Given the description of an element on the screen output the (x, y) to click on. 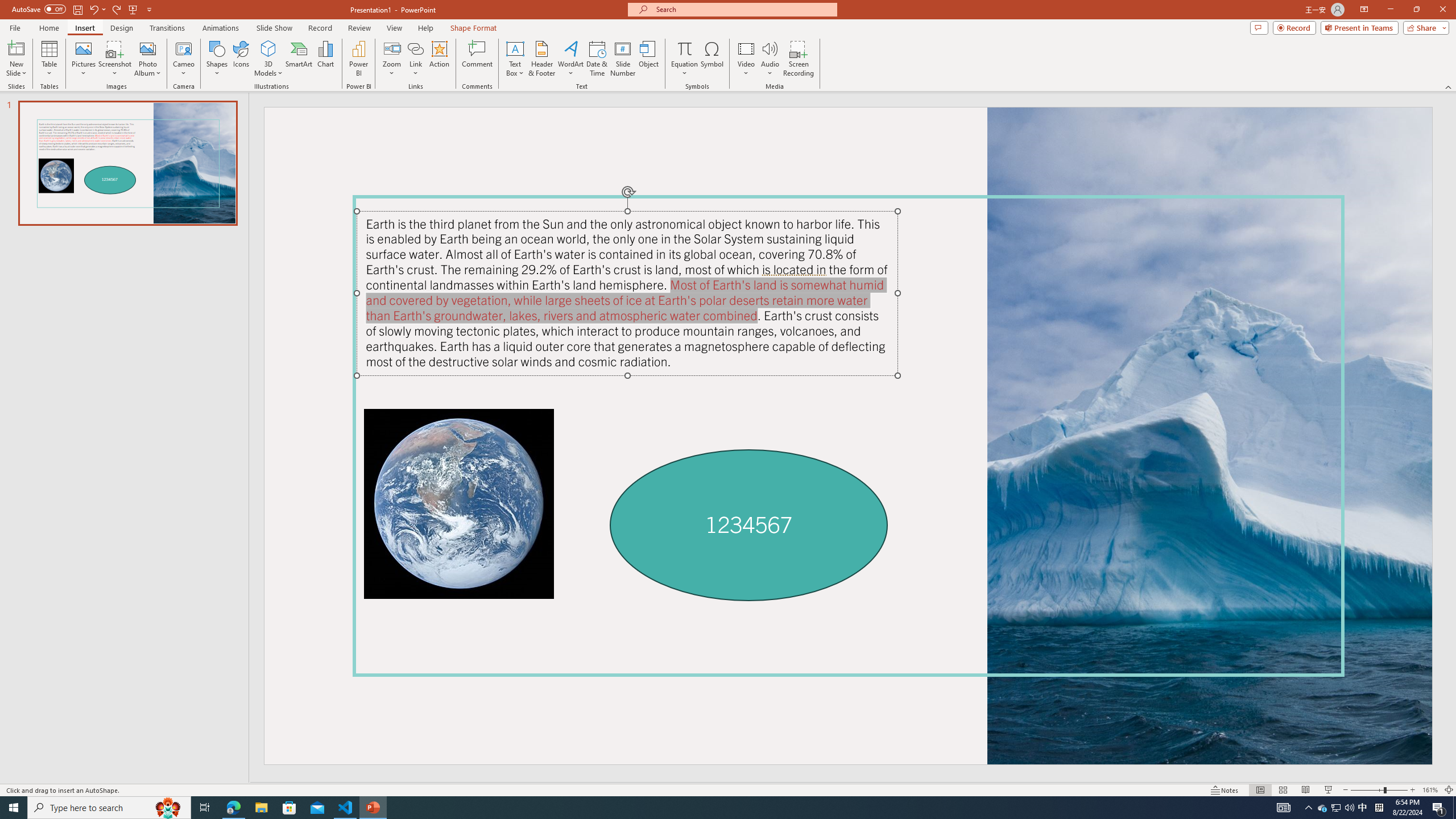
Header & Footer... (541, 58)
Equation (683, 58)
